Given the description of an element on the screen output the (x, y) to click on. 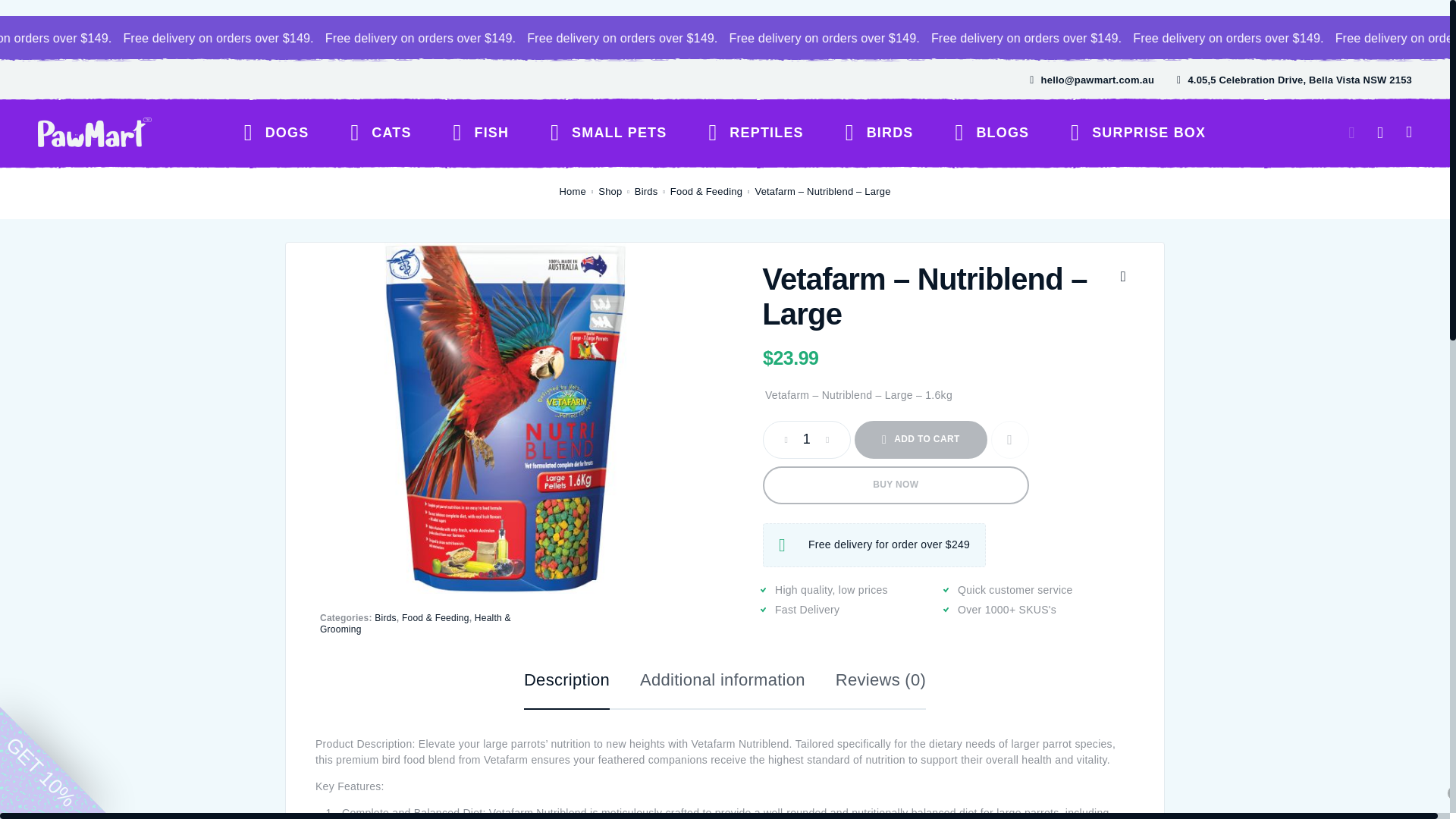
1 (806, 439)
Qty (806, 439)
